Given the description of an element on the screen output the (x, y) to click on. 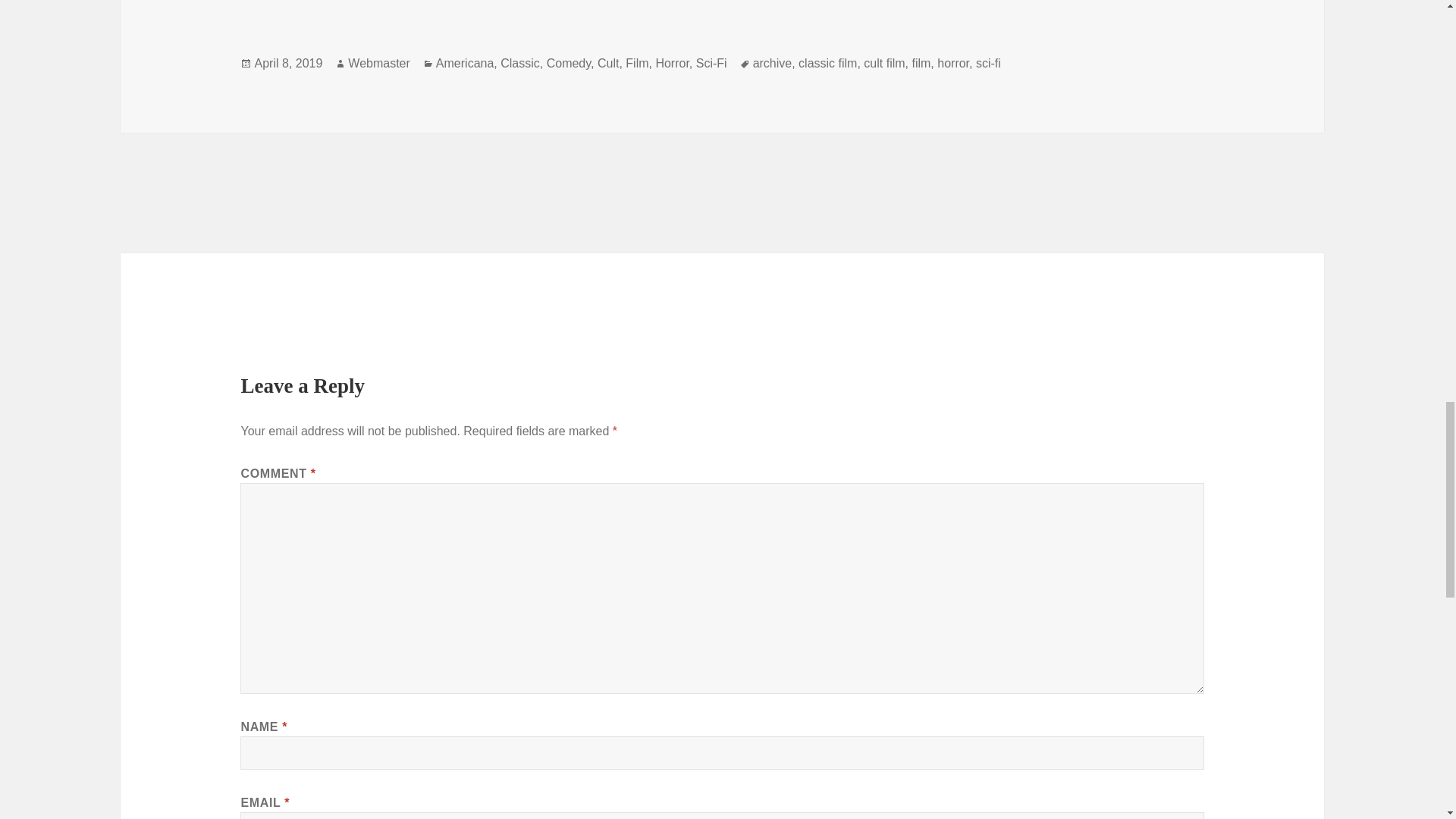
horror (953, 63)
Comedy (569, 63)
Sci-Fi (710, 63)
film (920, 63)
Webmaster (378, 63)
Cult (607, 63)
sci-fi (988, 63)
Americana (464, 63)
archive (772, 63)
April 8, 2019 (287, 63)
classic film (827, 63)
Film (636, 63)
cult film (883, 63)
Horror (671, 63)
Classic (520, 63)
